Given the description of an element on the screen output the (x, y) to click on. 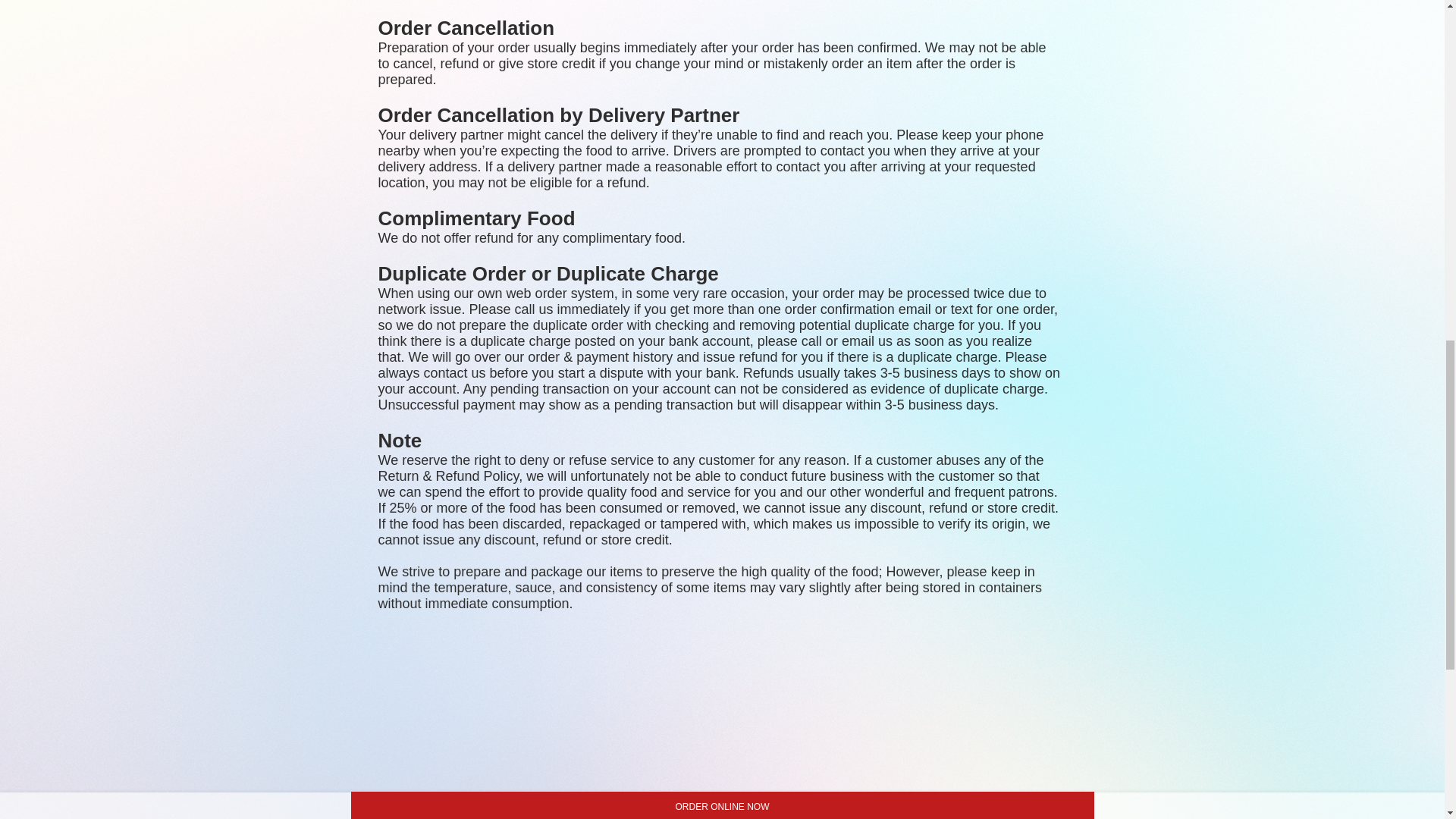
ORDER ONLINE NOW (721, 805)
